Given the description of an element on the screen output the (x, y) to click on. 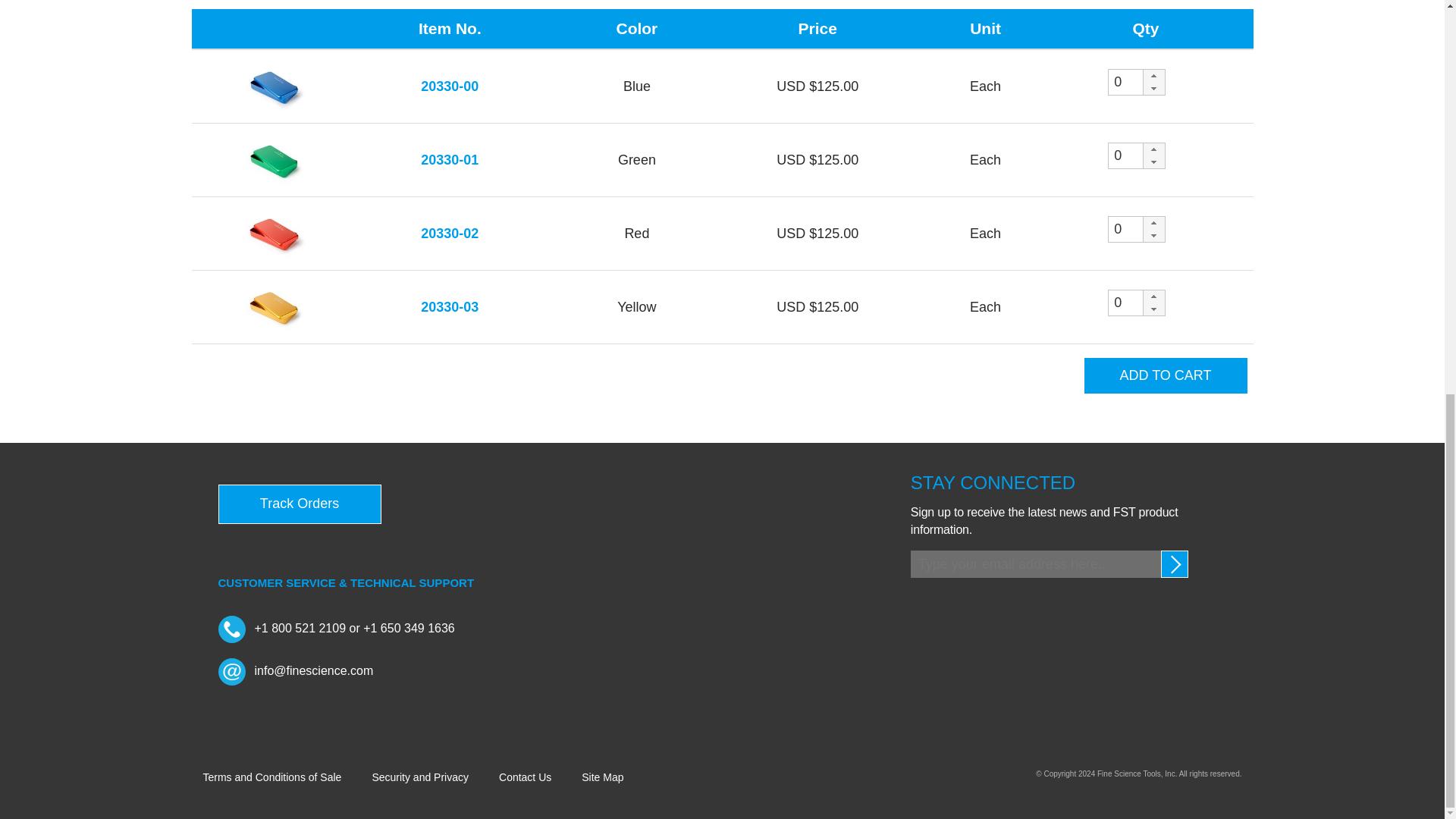
0 (1125, 155)
0 (1125, 229)
0 (1125, 303)
0 (1125, 82)
Add to Cart (1165, 375)
